Given the description of an element on the screen output the (x, y) to click on. 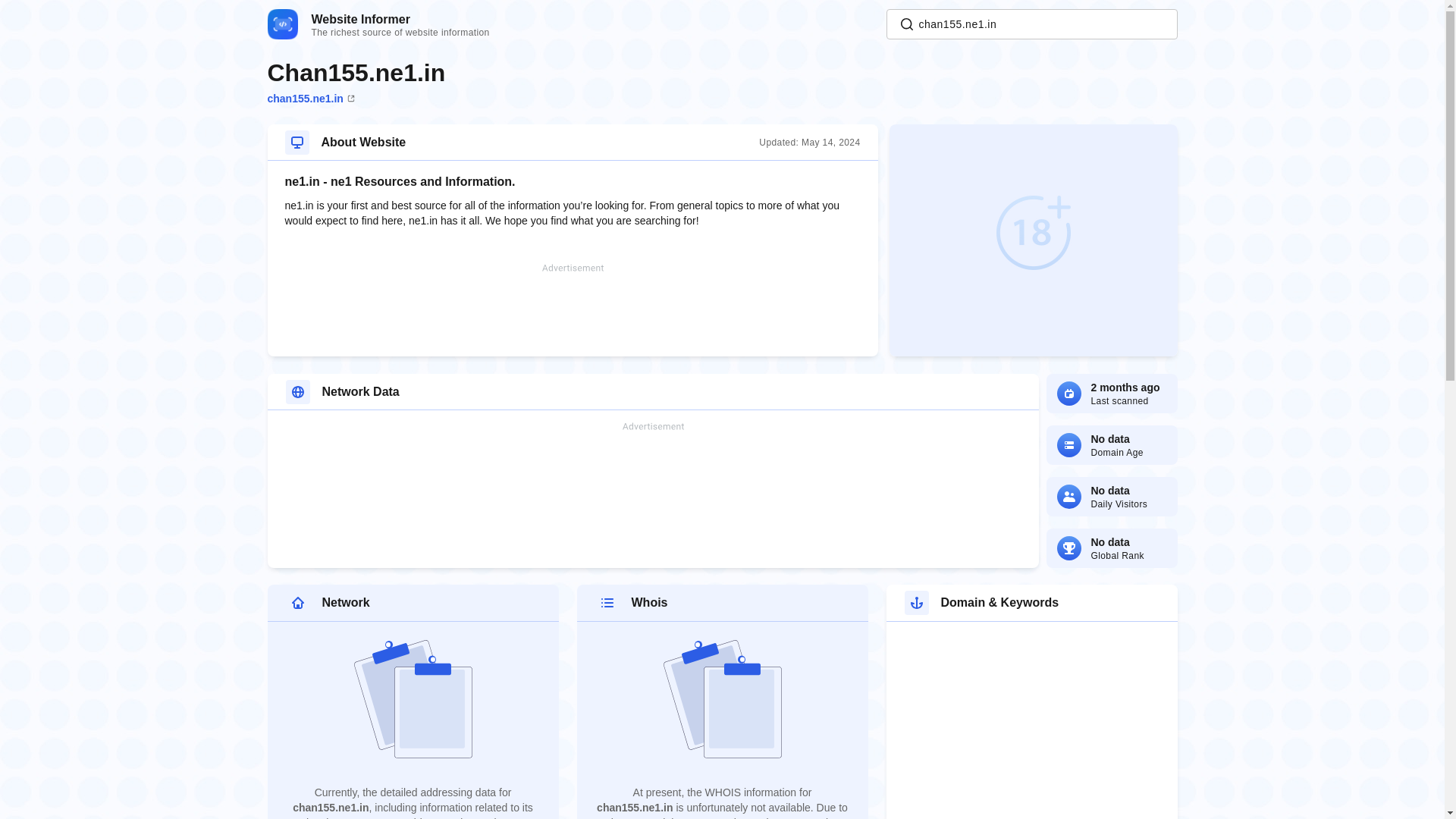
3rd party ad content (1017, 726)
chan155.ne1.in (309, 98)
3rd party ad content (377, 24)
Chan155.ne1.in thumbnail (652, 468)
3rd party ad content (1032, 240)
chan155.ne1.in (572, 309)
chan155.ne1.in (1031, 23)
